Given the description of an element on the screen output the (x, y) to click on. 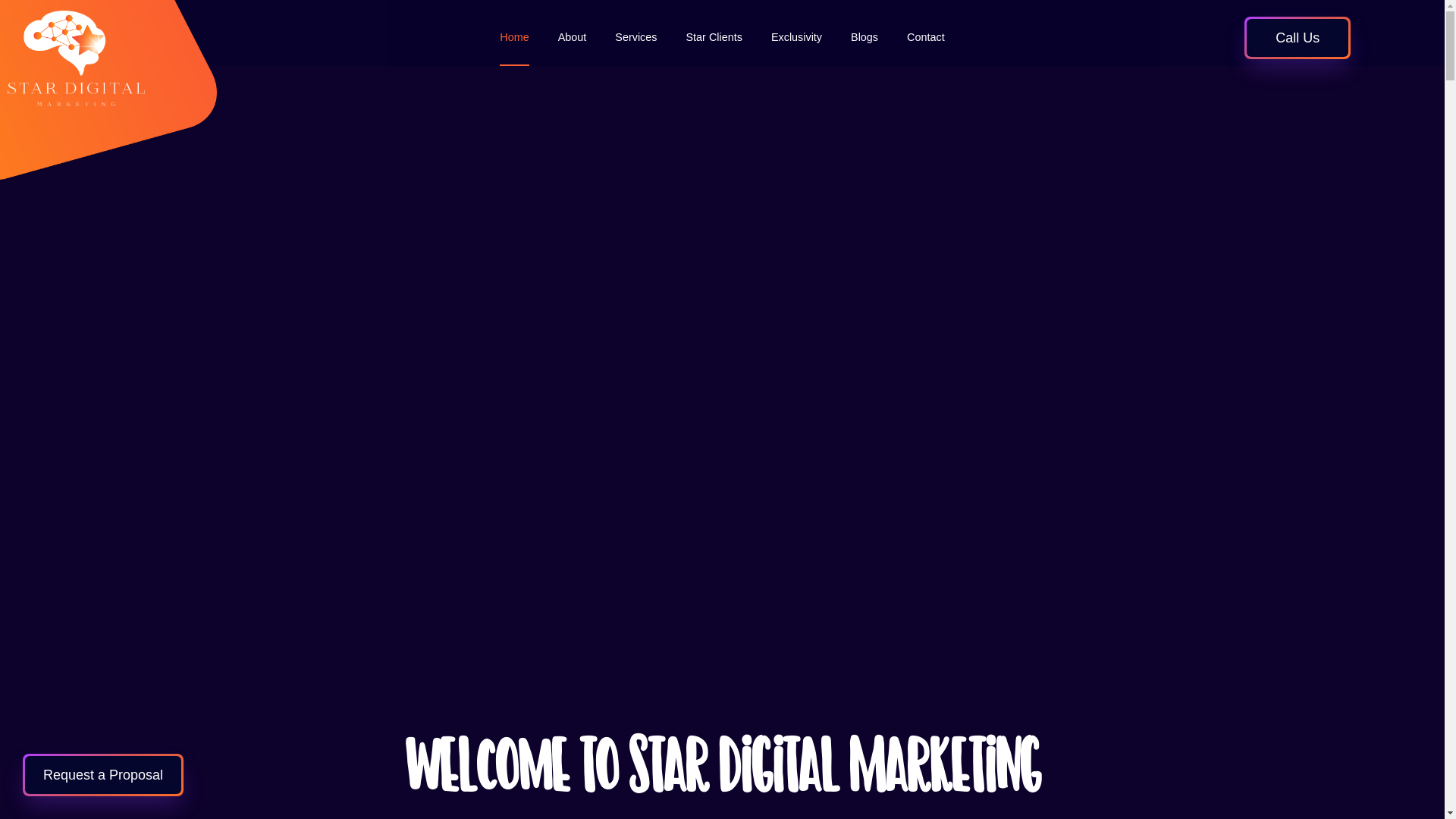
Request a Proposal Element type: text (102, 774)
Blogs Element type: text (864, 36)
Services Element type: text (635, 36)
Star Clients Element type: text (713, 36)
Call Us Element type: text (1297, 37)
About Element type: text (572, 36)
Contact Element type: text (925, 36)
Home Element type: text (513, 36)
Exclusivity Element type: text (796, 36)
